Given the description of an element on the screen output the (x, y) to click on. 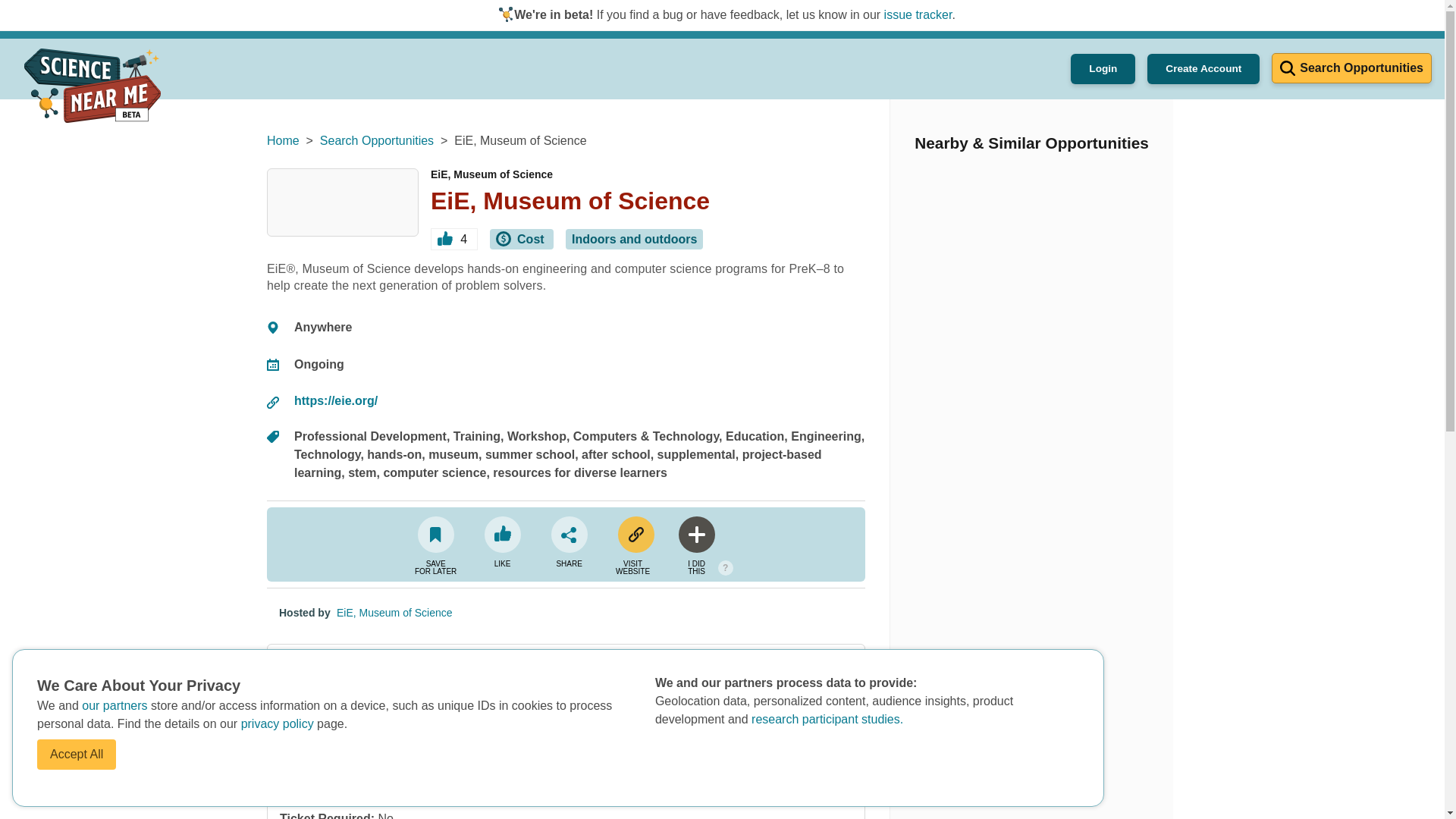
Search Opportunities (1351, 68)
EiE, Museum of Science (394, 612)
return to home page (92, 85)
Create Account (1203, 69)
Home (282, 140)
Login (1102, 69)
privacy policy (279, 723)
our partners (116, 705)
? (725, 567)
Search Opportunities (376, 140)
